Given the description of an element on the screen output the (x, y) to click on. 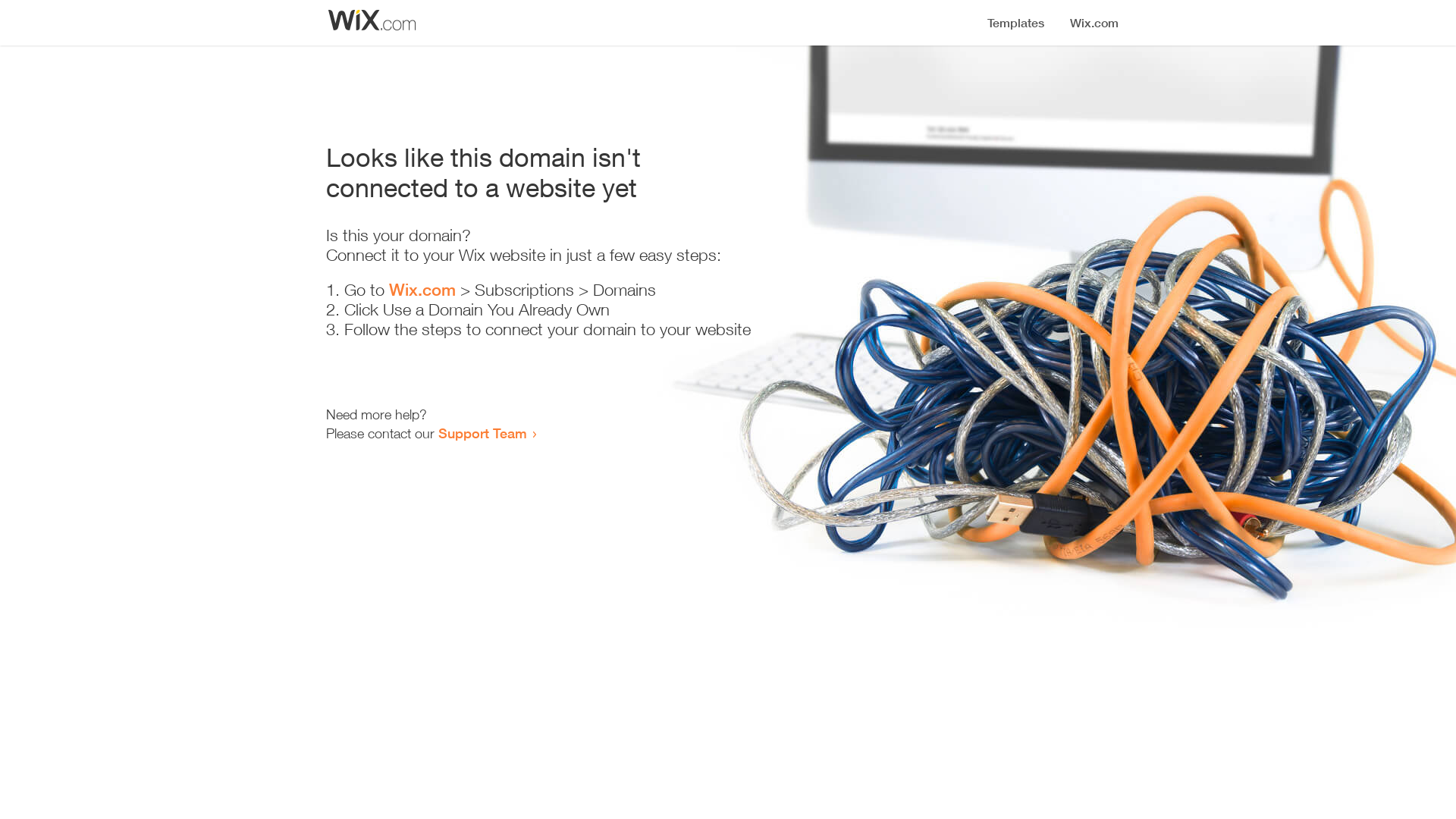
Support Team Element type: text (482, 432)
Wix.com Element type: text (422, 289)
